Given the description of an element on the screen output the (x, y) to click on. 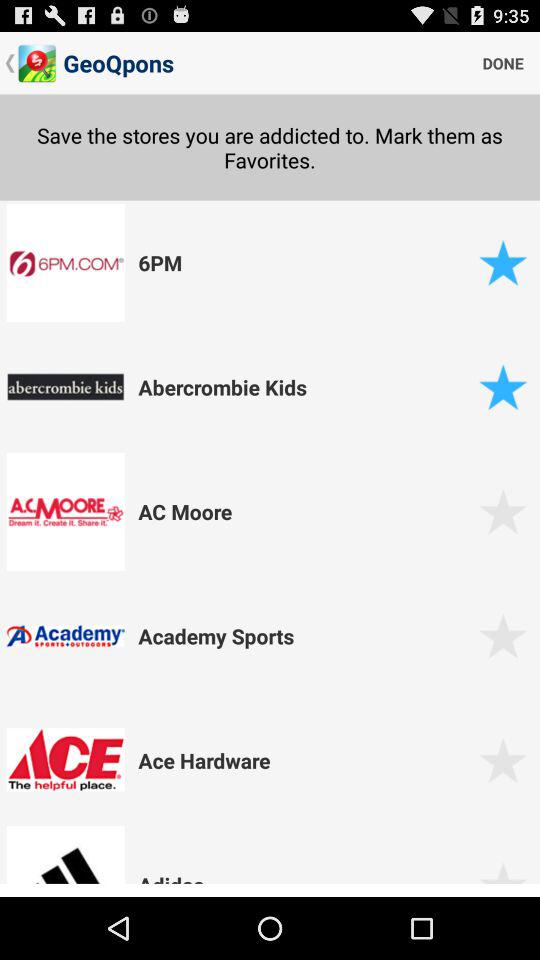
add to favorites (502, 511)
